Given the description of an element on the screen output the (x, y) to click on. 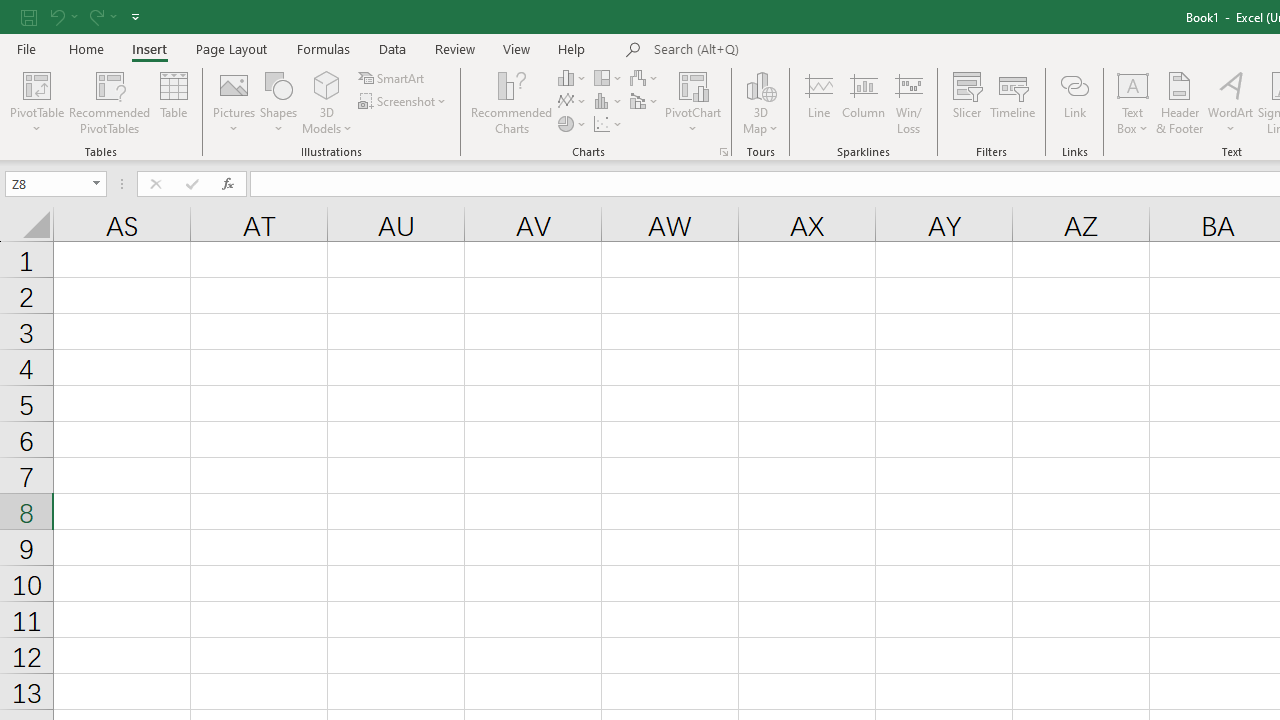
Insert Pie or Doughnut Chart (573, 124)
Text Box (1133, 102)
Timeline (1013, 102)
Insert Line or Area Chart (573, 101)
Recommended PivotTables (109, 102)
